Given the description of an element on the screen output the (x, y) to click on. 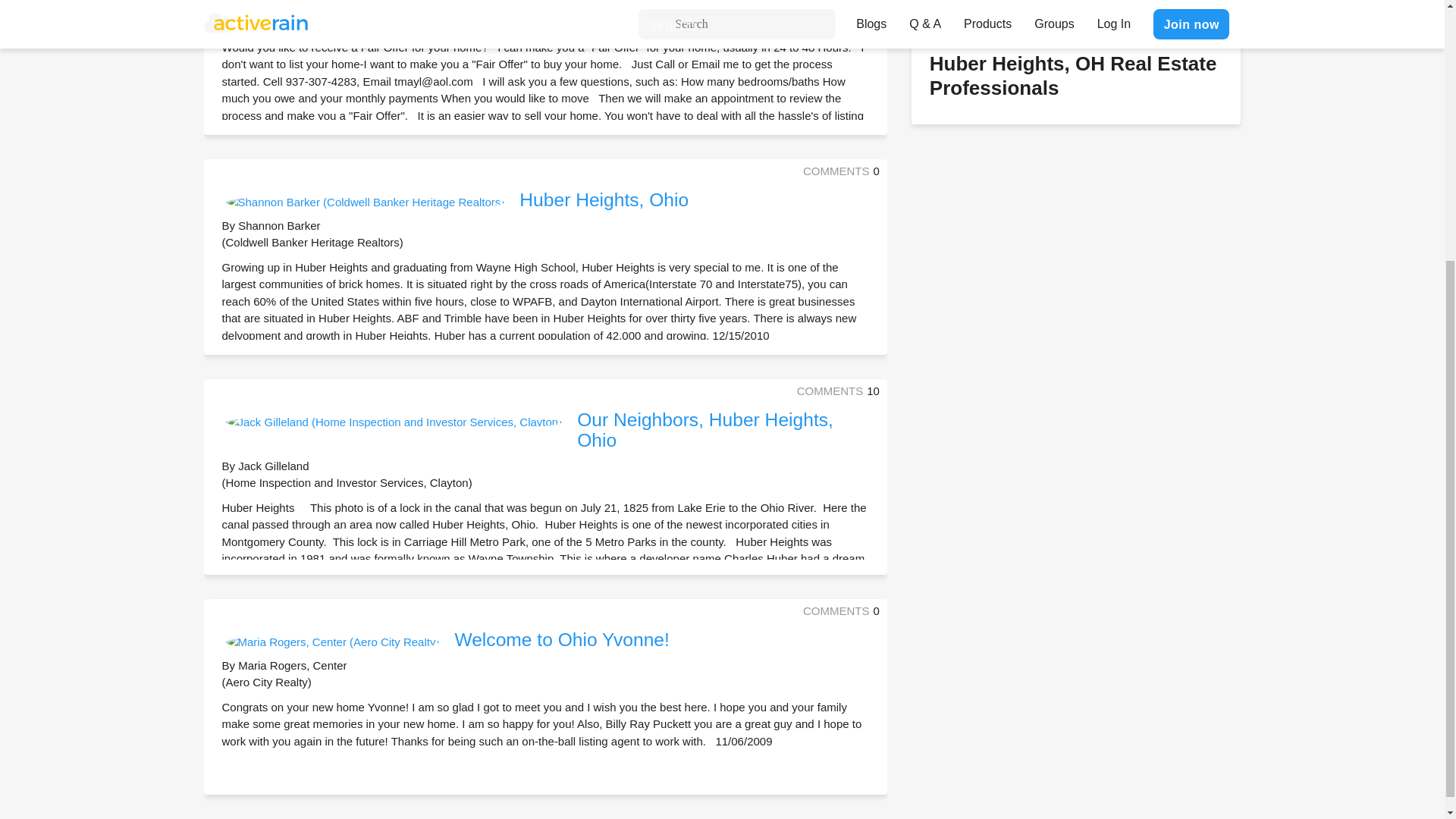
Welcome to Ohio Yvonne! (561, 639)
Huber Heights, Ohio (603, 199)
Our Neighbors, Huber Heights, Ohio (704, 429)
